Given the description of an element on the screen output the (x, y) to click on. 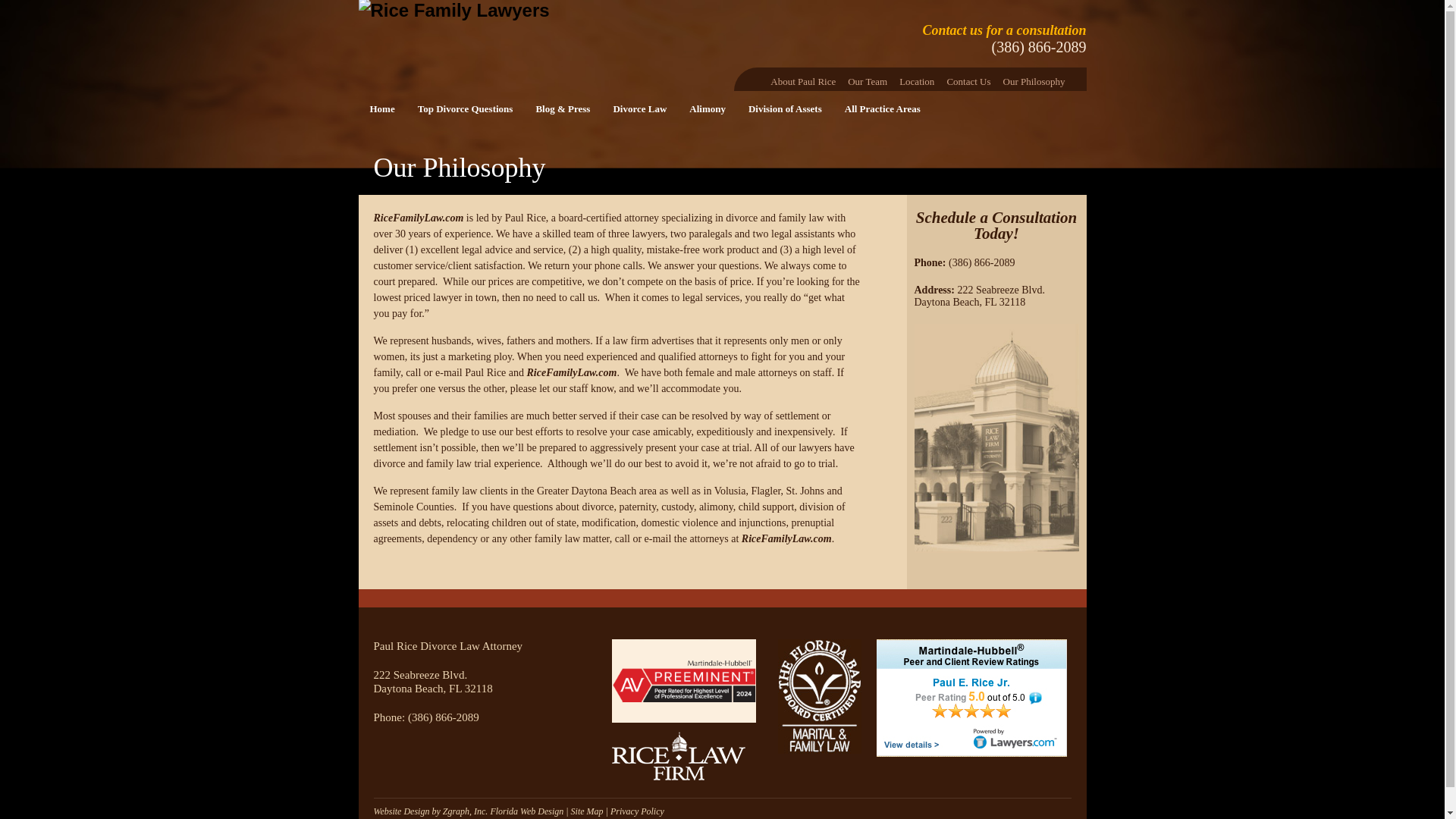
Division of Assets (784, 108)
Top Divorce Questions (465, 108)
Our Philosophy (1034, 78)
Divorce Law (639, 108)
Home (382, 108)
Contact Us (967, 78)
Alimony (707, 108)
Location (916, 78)
Florida Web Design (526, 810)
All Practice Areas (881, 108)
About Paul Rice (802, 78)
Privacy Policy (636, 810)
Our Team (867, 78)
Site Map (587, 810)
